Given the description of an element on the screen output the (x, y) to click on. 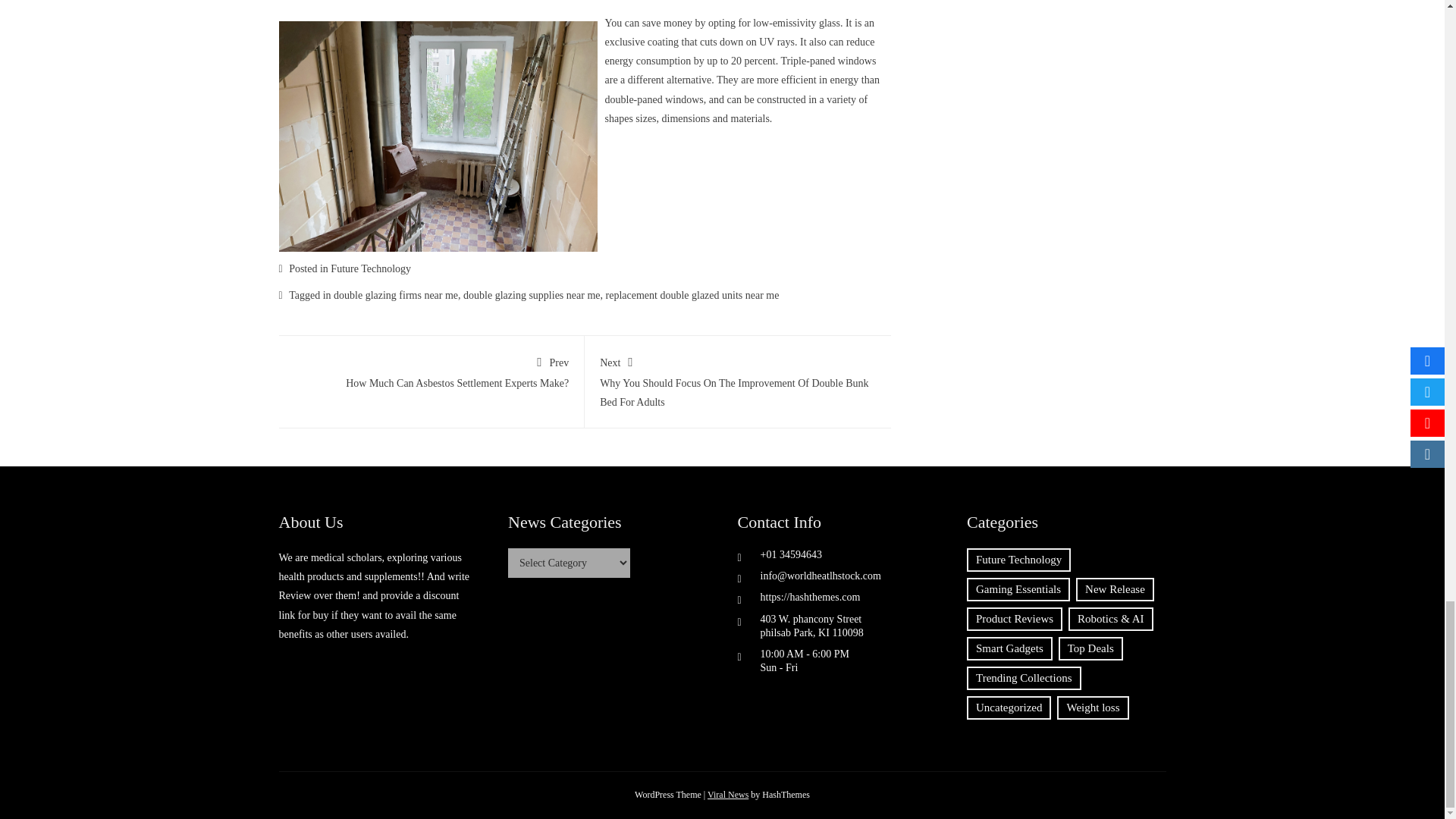
replacement double glazed units near me (431, 370)
double glazing supplies near me (691, 295)
Download Viral News (531, 295)
double glazing firms near me (727, 794)
Future Technology (395, 295)
